Given the description of an element on the screen output the (x, y) to click on. 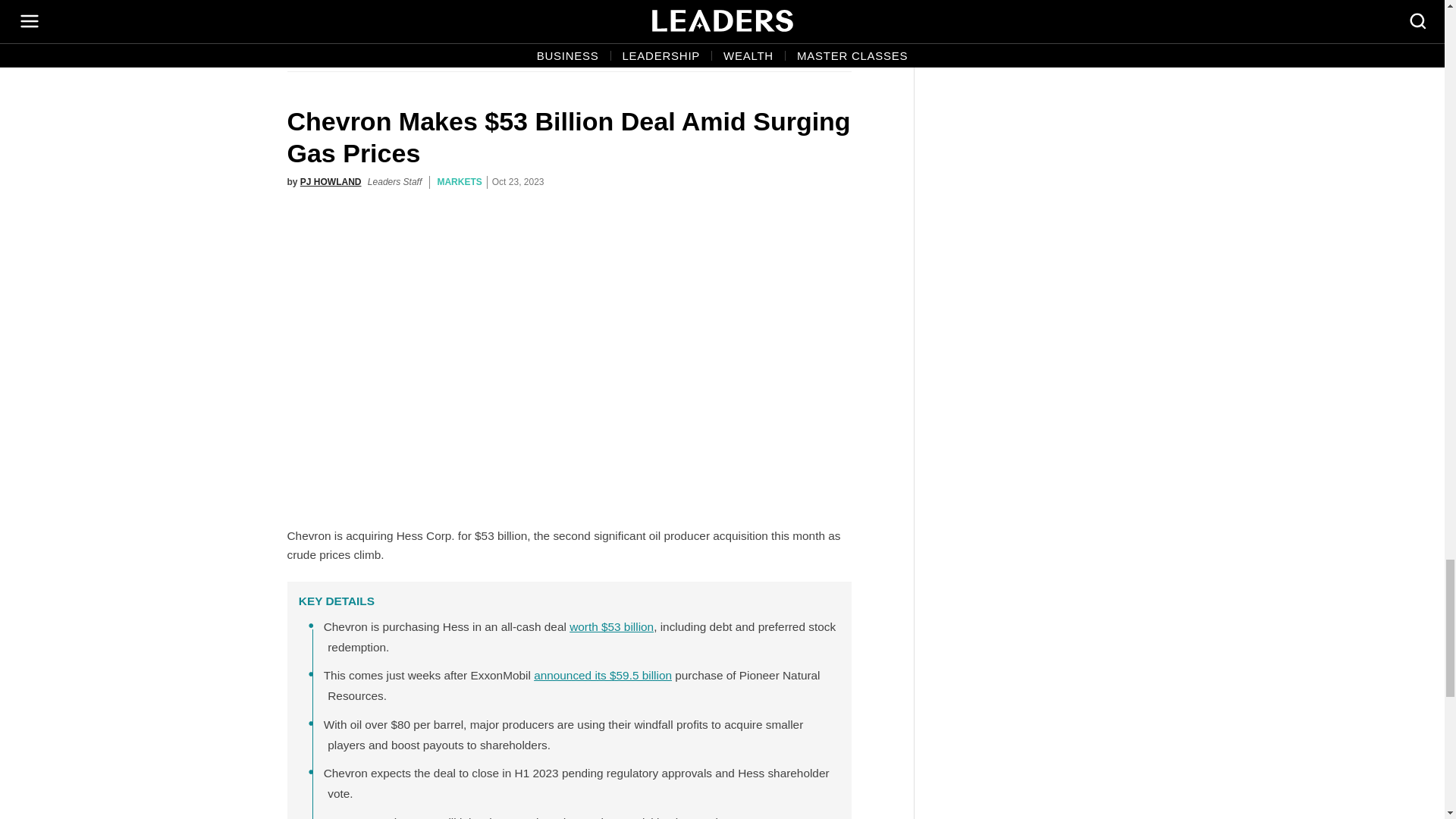
Share on Twitter (770, 27)
Share via Email (803, 27)
Share on Facebook (738, 27)
Share on LinkedIn (835, 27)
